Given the description of an element on the screen output the (x, y) to click on. 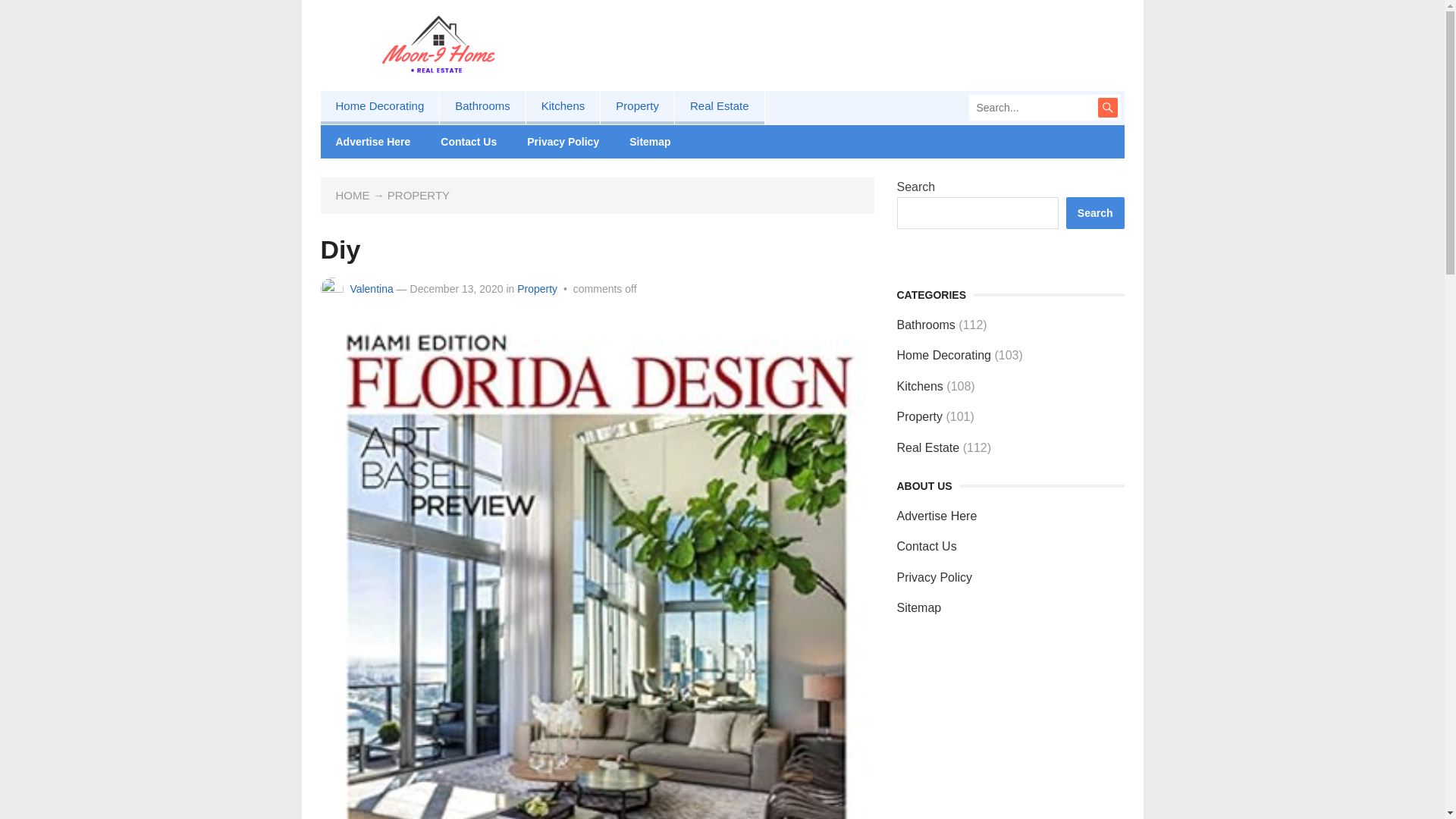
Property (536, 288)
Privacy Policy (934, 576)
Property (919, 416)
PROPERTY (418, 195)
Contact Us (468, 141)
Sitemap (649, 141)
Posts by Valentina (371, 288)
Bathrooms (925, 324)
Bathrooms (482, 107)
Kitchens (562, 107)
